Given the description of an element on the screen output the (x, y) to click on. 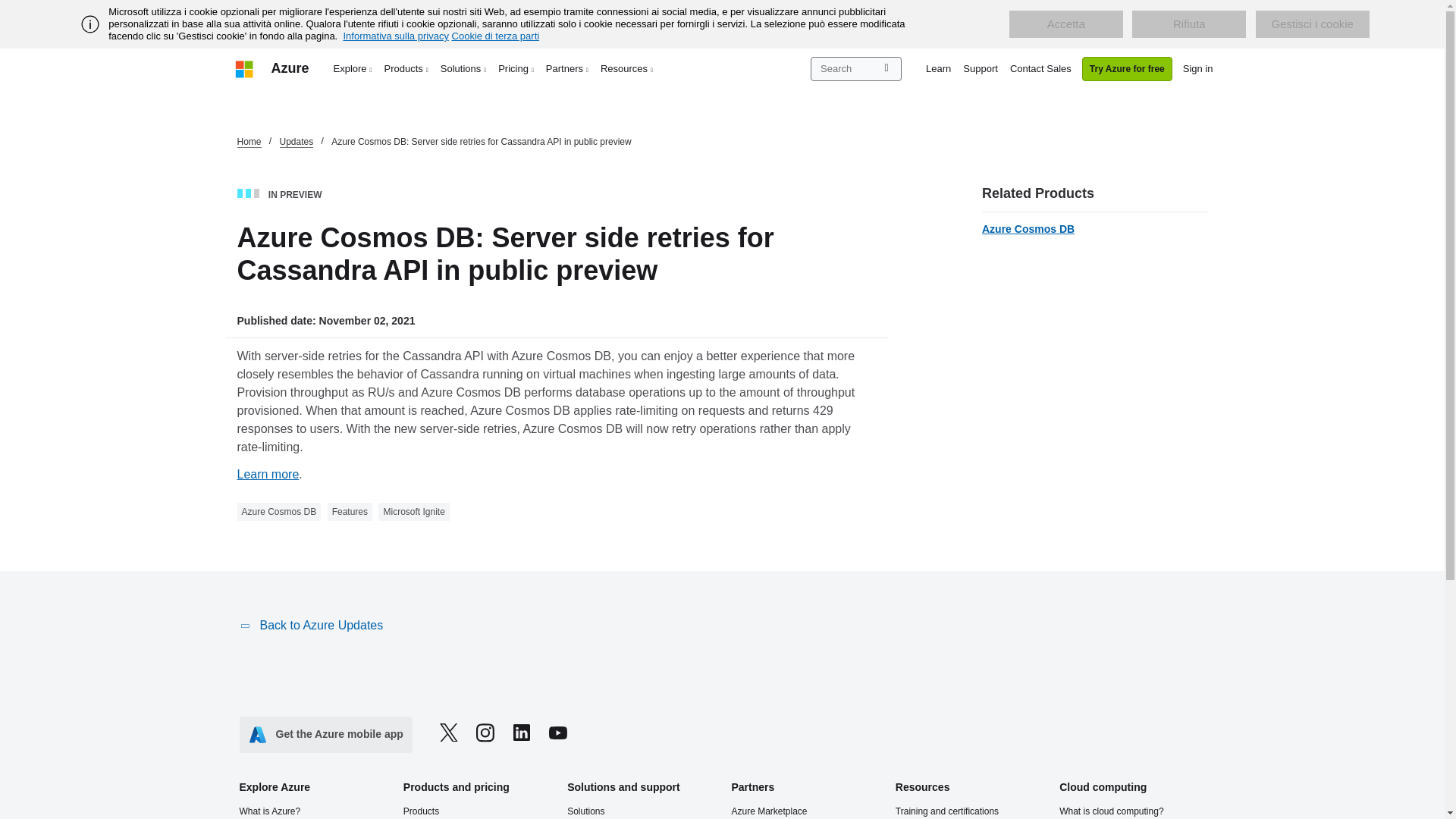
Rifiuta (1189, 23)
Azure (289, 68)
Gestisci i cookie (1312, 23)
Skip to main content (7, 7)
Accetta (1065, 23)
Cookie di terza parti (495, 35)
Informativa sulla privacy (395, 35)
Products (405, 68)
Explore (352, 68)
